Given the description of an element on the screen output the (x, y) to click on. 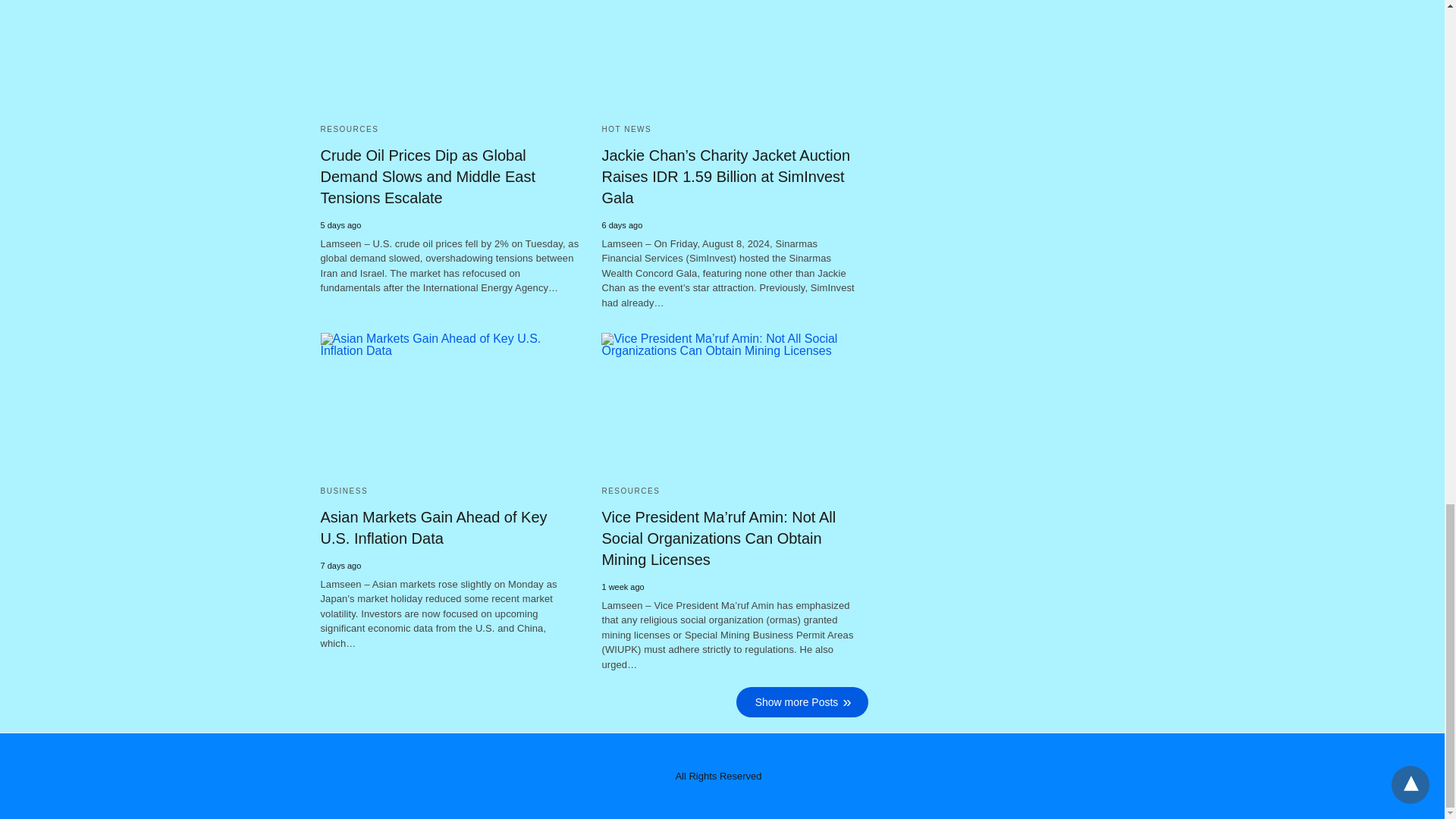
RESOURCES (349, 129)
Asian Markets Gain Ahead of Key U.S. Inflation Data (449, 402)
BUSINESS (344, 490)
HOT NEWS (625, 129)
